Given the description of an element on the screen output the (x, y) to click on. 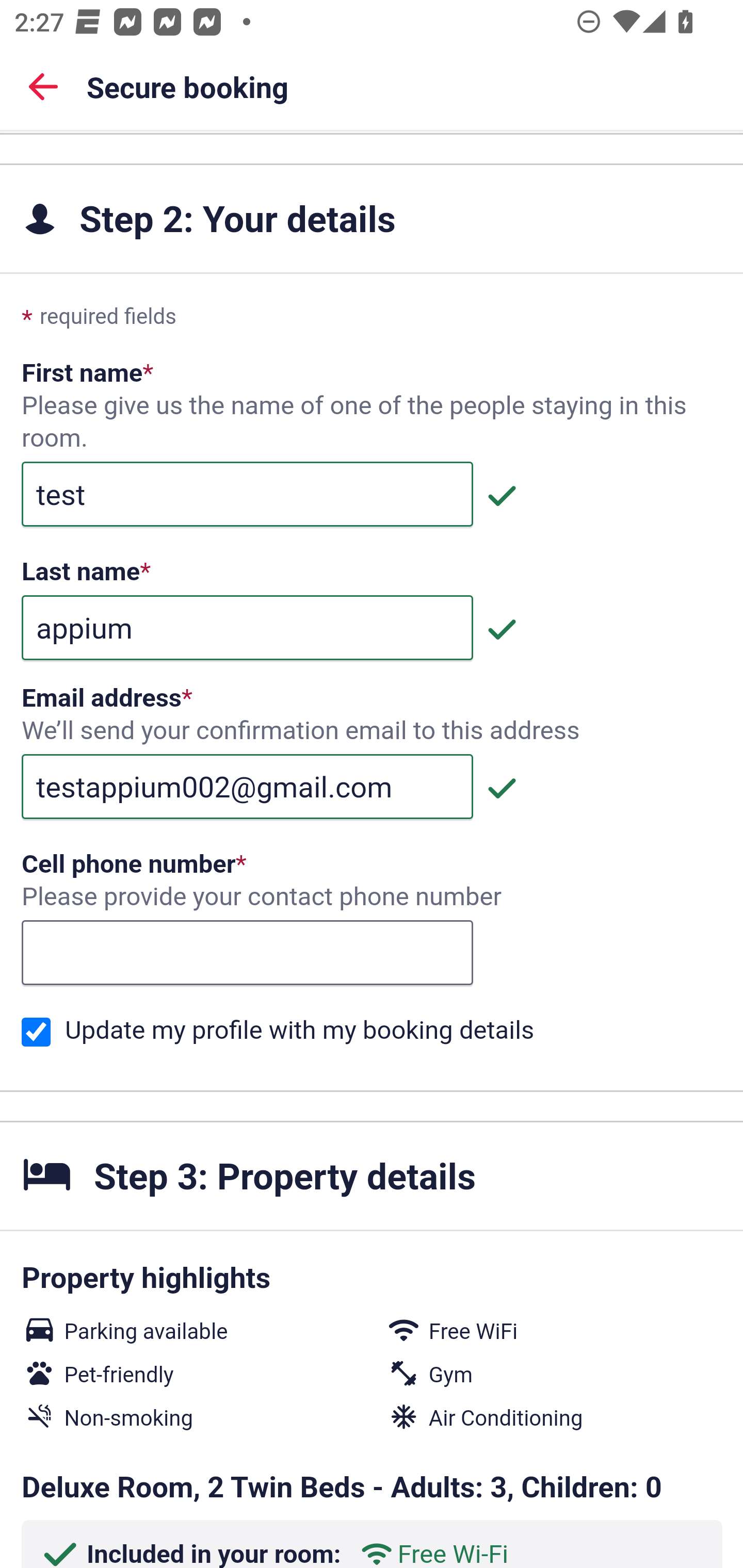
Back (43, 86)
test (247, 492)
appium (247, 627)
testappium002@gmail.com (247, 786)
Update my profile with my booking details (36, 1031)
